Given the description of an element on the screen output the (x, y) to click on. 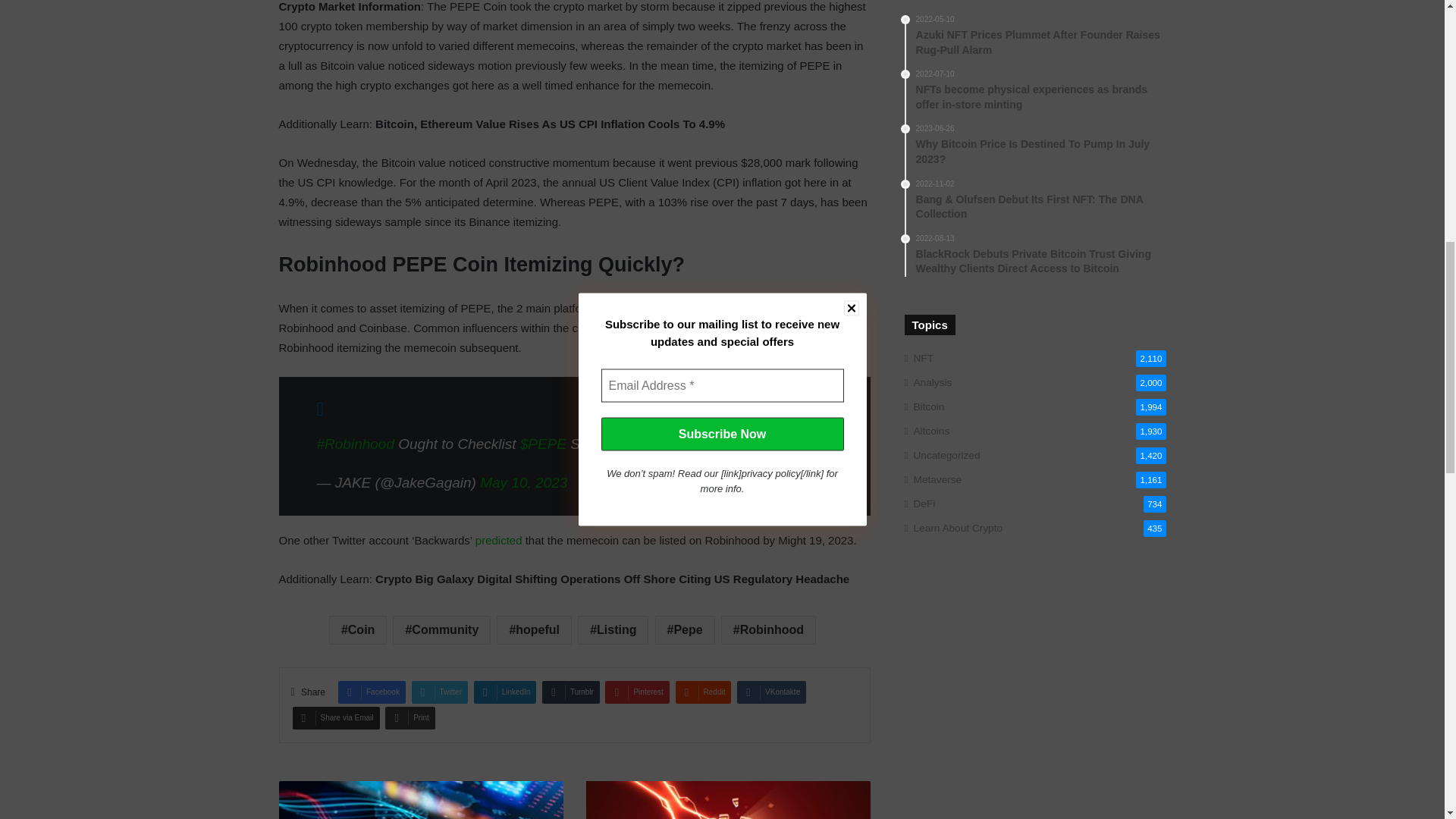
May 10, 2023 (523, 482)
predicted (499, 540)
